Given the description of an element on the screen output the (x, y) to click on. 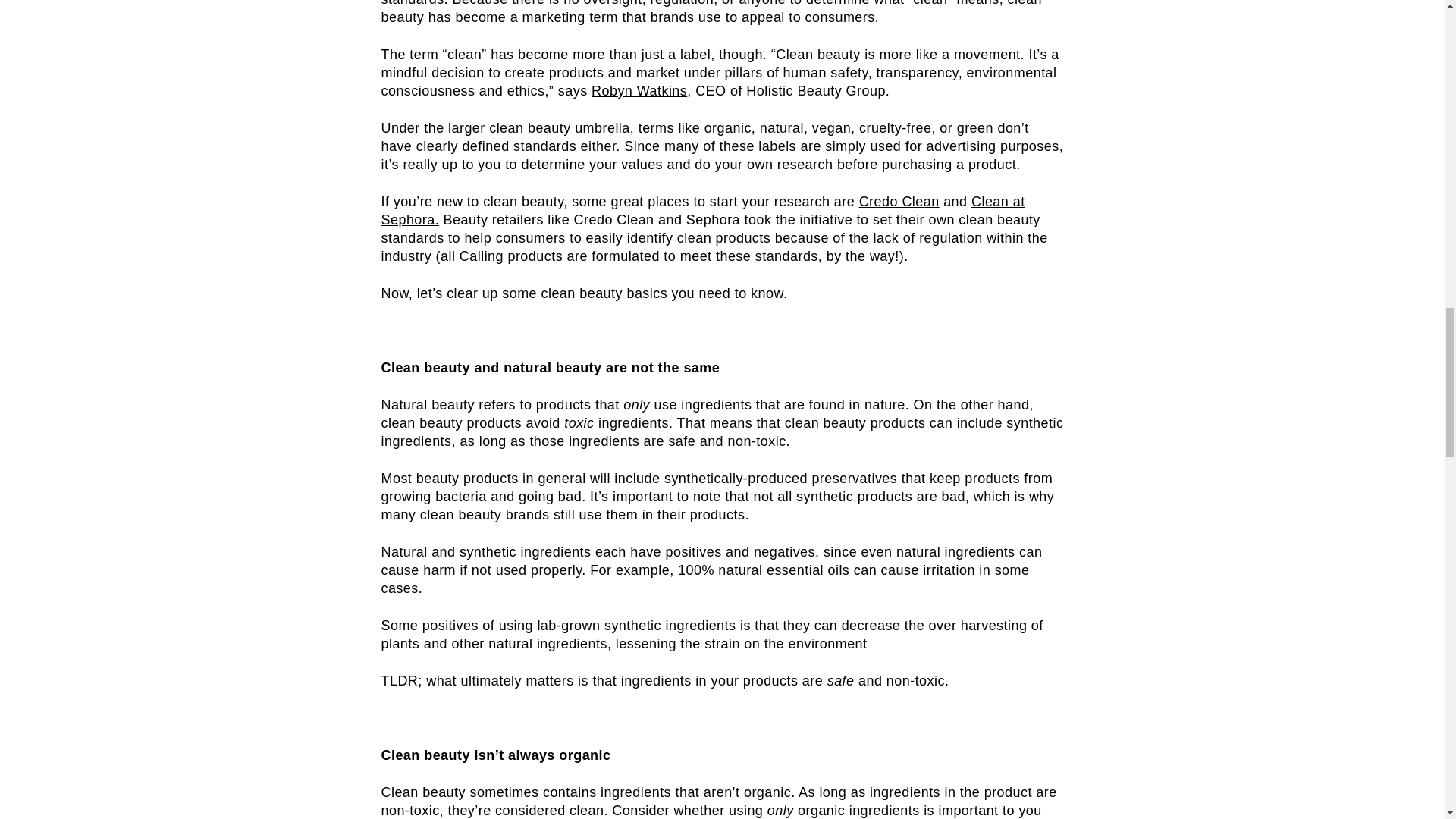
Robyn Watkins (639, 90)
Clean at Sephora. (702, 210)
Credo Clean (899, 201)
